Given the description of an element on the screen output the (x, y) to click on. 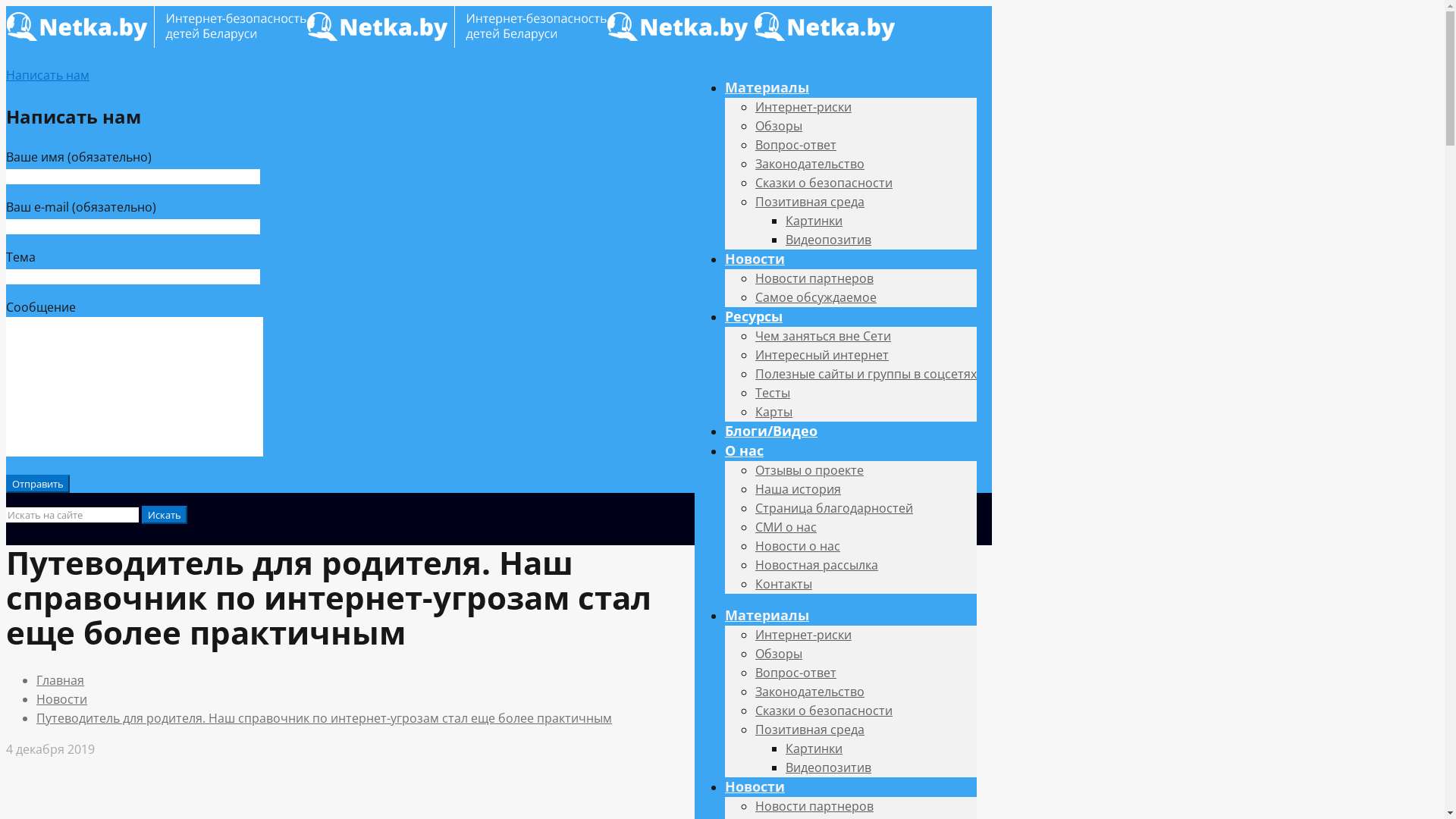
Netka.by Element type: hover (453, 43)
